Given the description of an element on the screen output the (x, y) to click on. 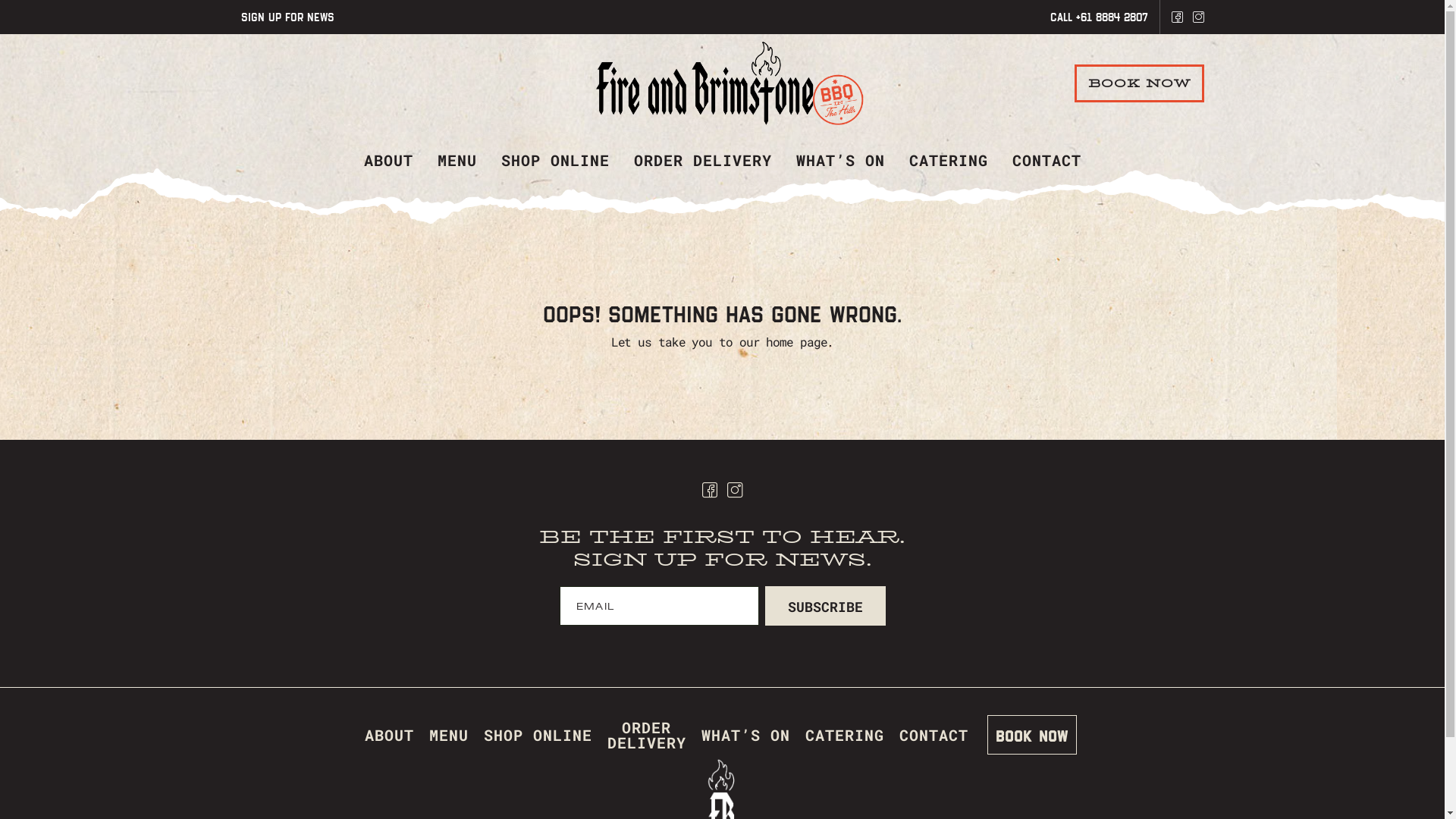
MENU Element type: text (456, 159)
CATERING Element type: text (947, 159)
ORDER DELIVERY Element type: text (702, 159)
Call +61 8884 2807 Element type: text (1098, 16)
CONTACT Element type: text (933, 733)
Subscribe Element type: text (824, 605)
Sign up for news Element type: text (287, 16)
SHOP ONLINE Element type: text (554, 159)
SHOP ONLINE Element type: text (537, 733)
home page Element type: text (795, 341)
ABOUT Element type: text (388, 159)
ABOUT Element type: text (388, 733)
CONTACT Element type: text (1045, 159)
CATERING Element type: text (844, 733)
MENU Element type: text (448, 733)
ORDER
DELIVERY Element type: text (646, 733)
BOOK NOW Element type: text (1031, 734)
